Given the description of an element on the screen output the (x, y) to click on. 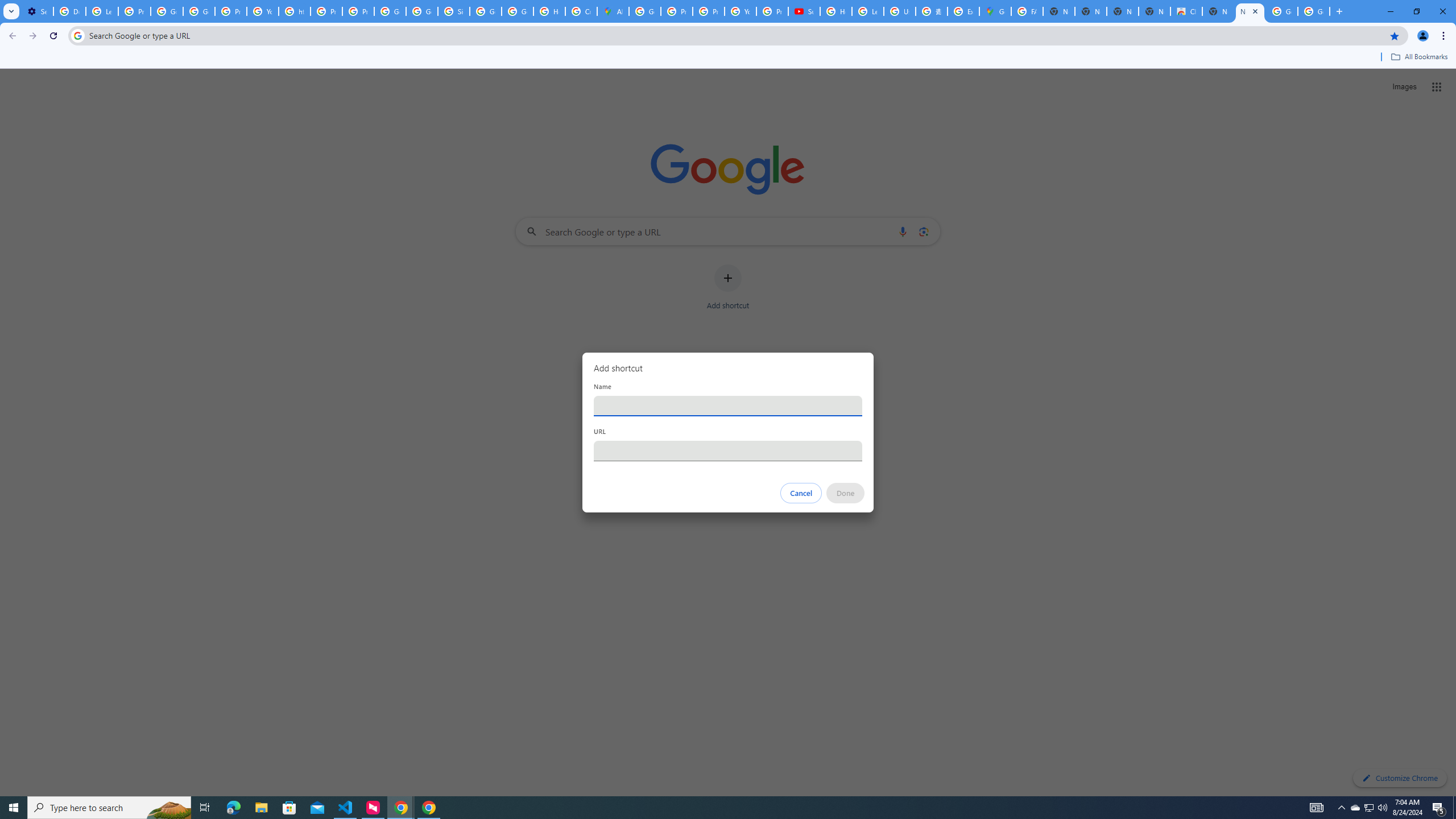
URL (727, 450)
Name (727, 405)
Google Images (1281, 11)
Settings - Performance (37, 11)
Cancel (801, 493)
Google Maps (995, 11)
